Given the description of an element on the screen output the (x, y) to click on. 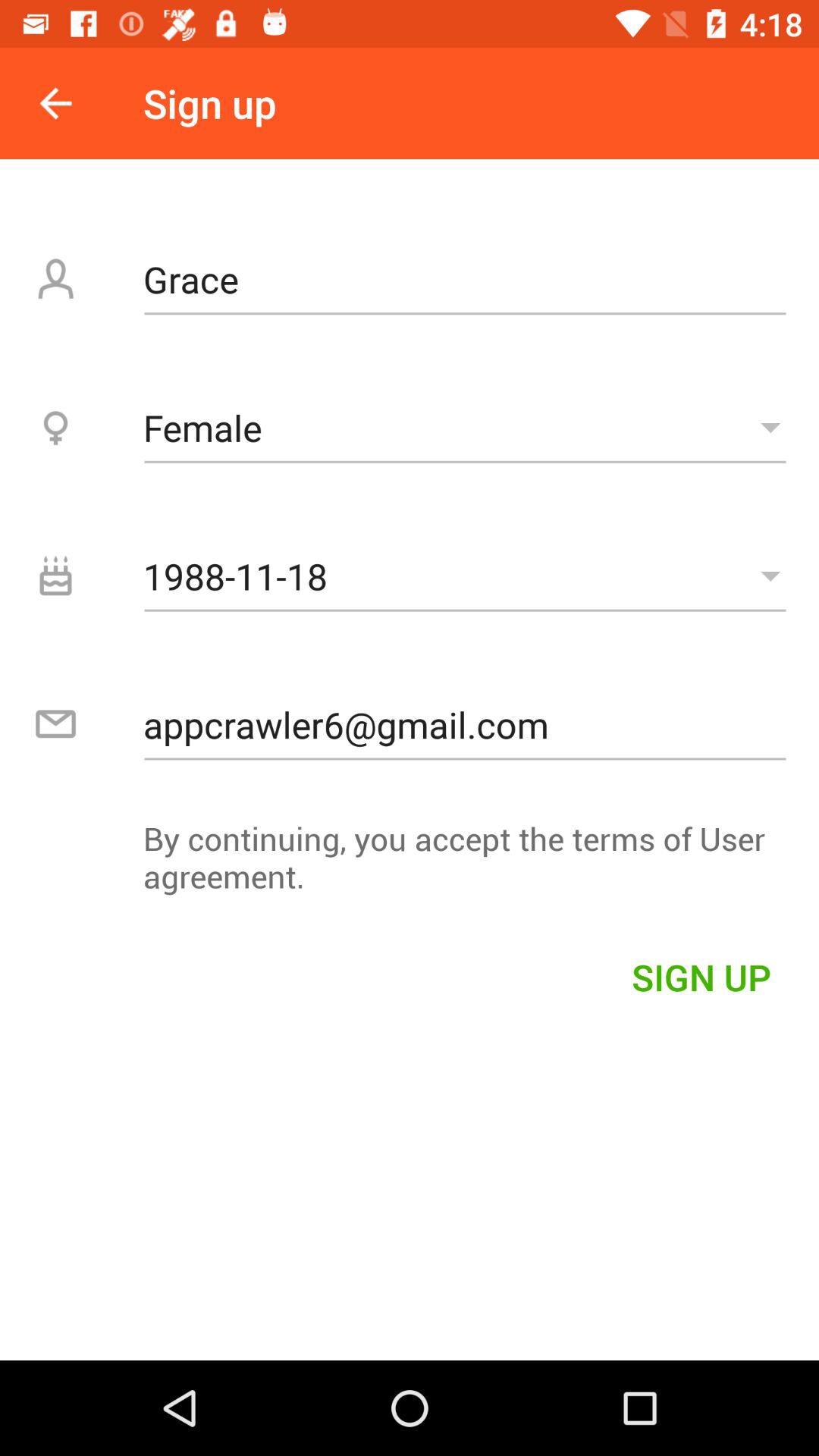
click the appcrawler6@gmail.com (465, 724)
